Given the description of an element on the screen output the (x, y) to click on. 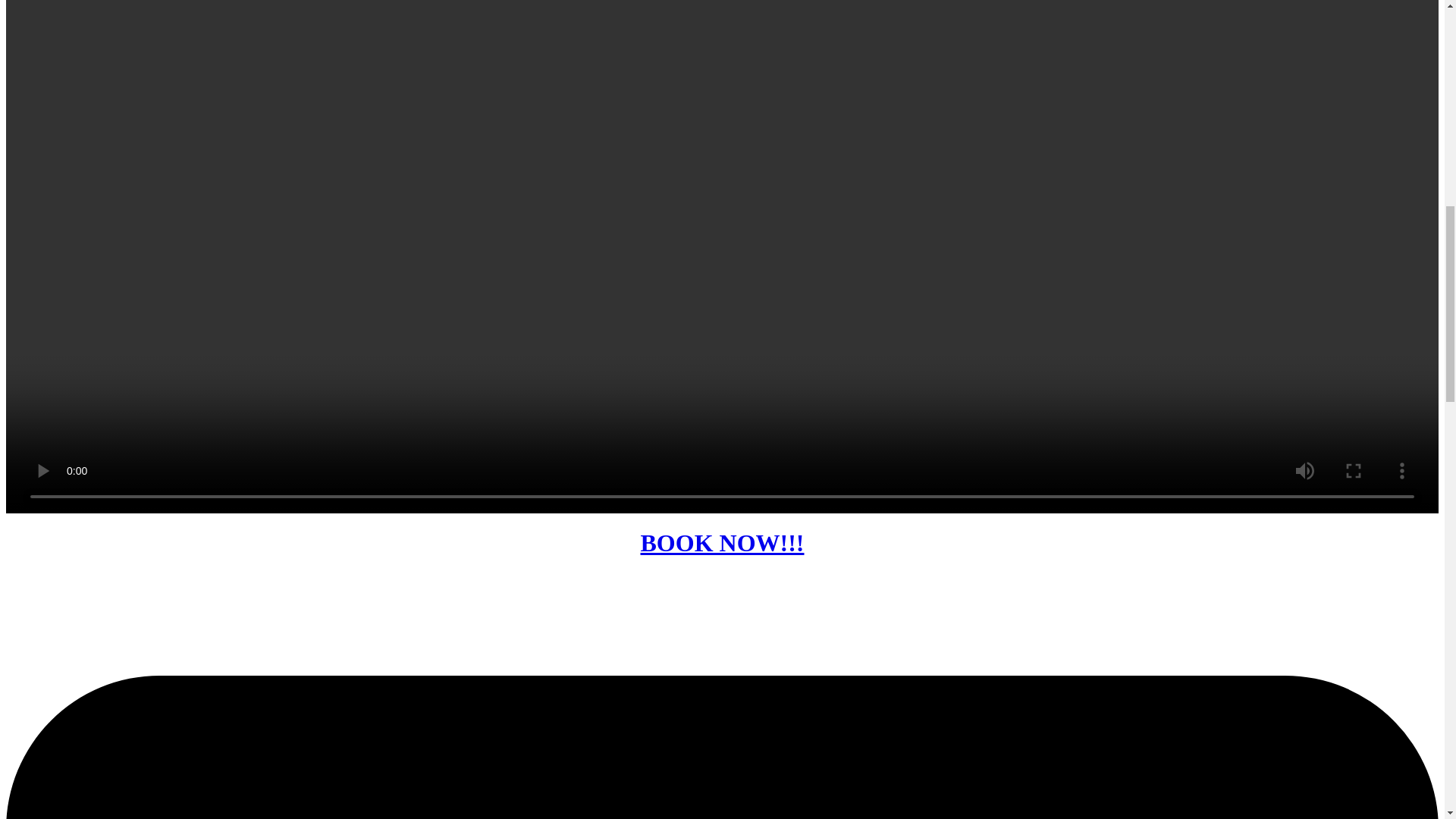
BOOK NOW!!! (721, 542)
